Given the description of an element on the screen output the (x, y) to click on. 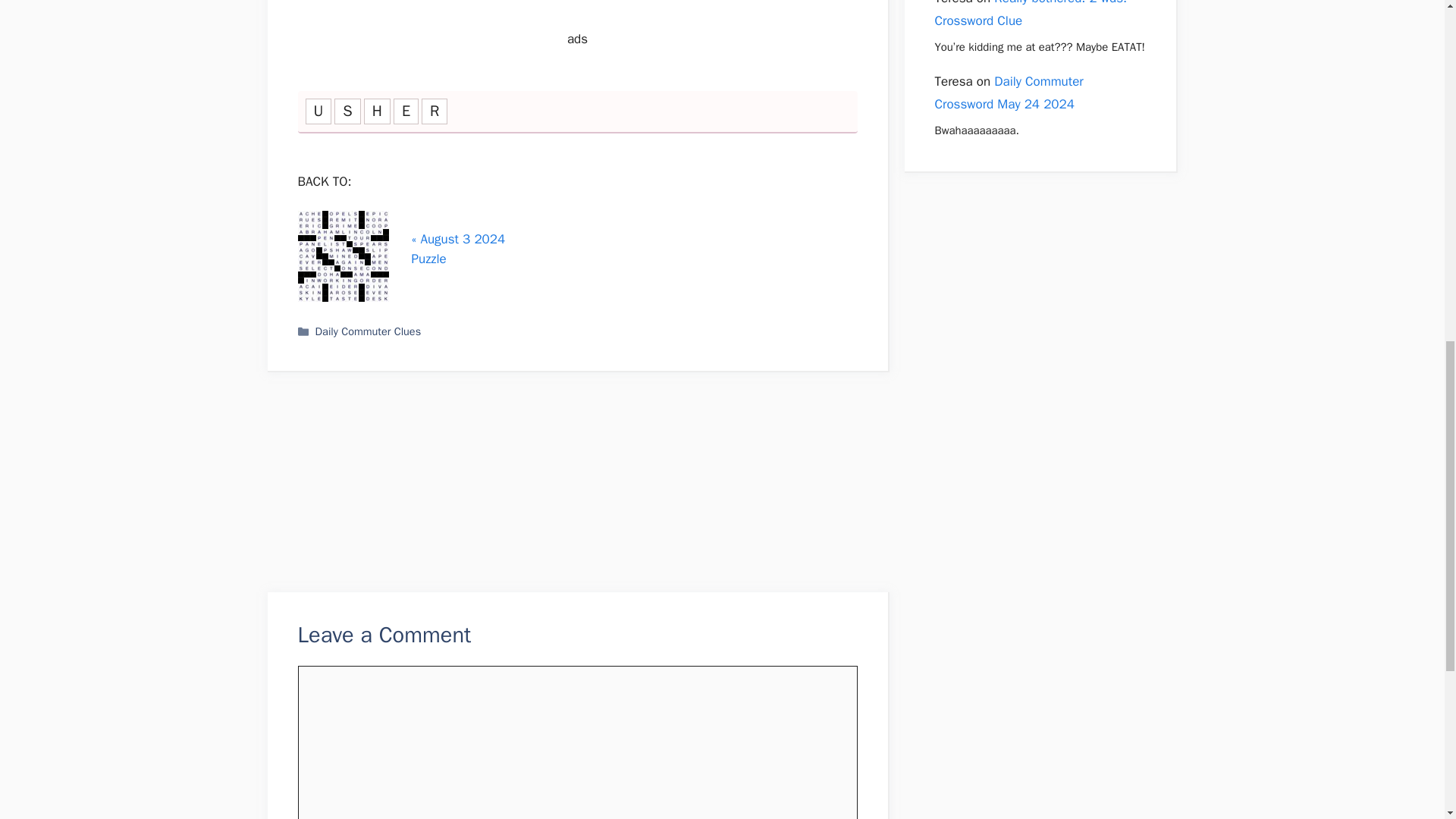
Really bothered: 2 wds. Crossword Clue (1030, 14)
Daily Commuter Crossword May 24 2024 (1008, 93)
august-03-2024-answers Puzzle (342, 256)
Daily Commuter Clues (368, 331)
